Given the description of an element on the screen output the (x, y) to click on. 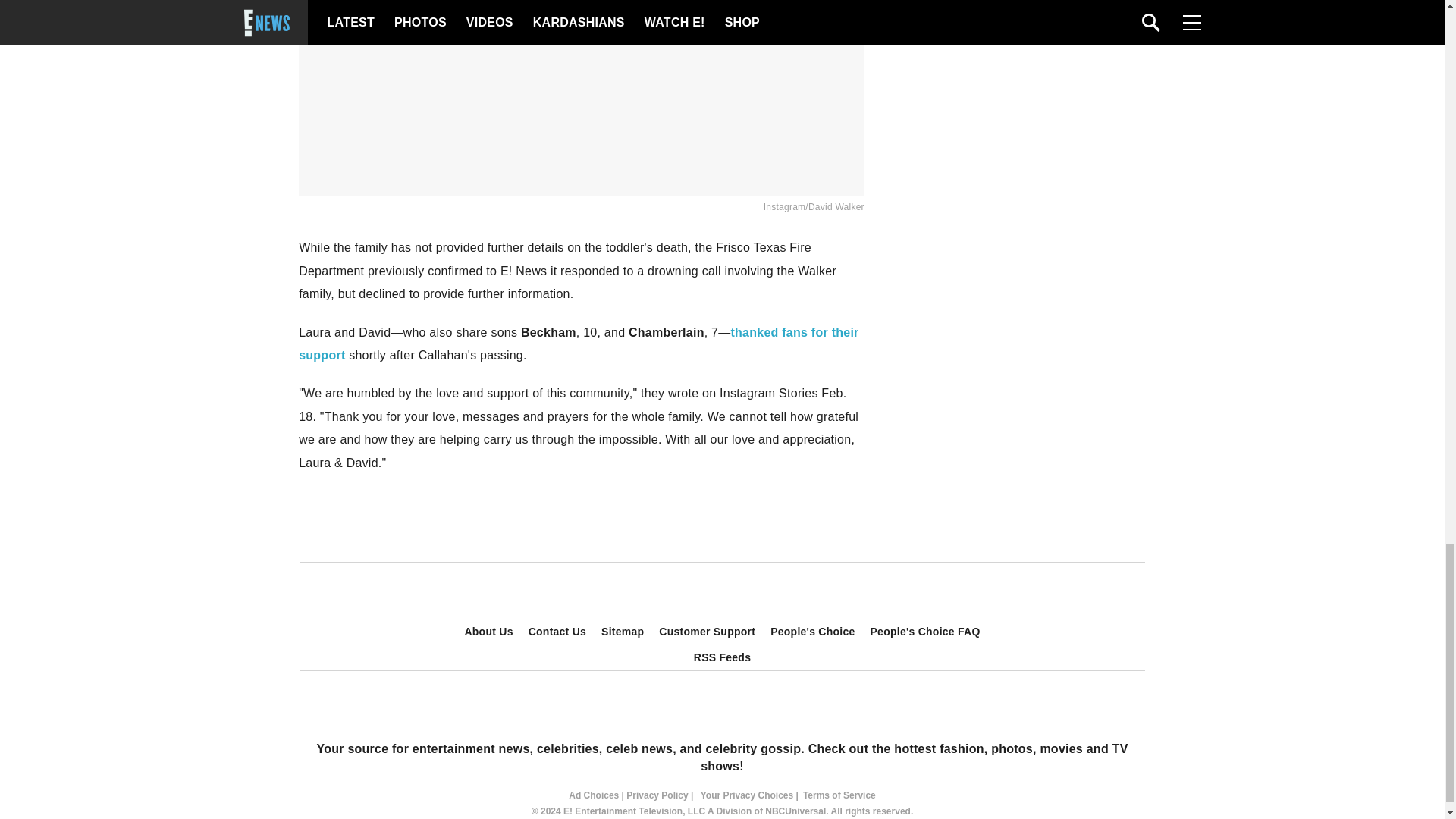
thanked fans for their support (578, 343)
